Given the description of an element on the screen output the (x, y) to click on. 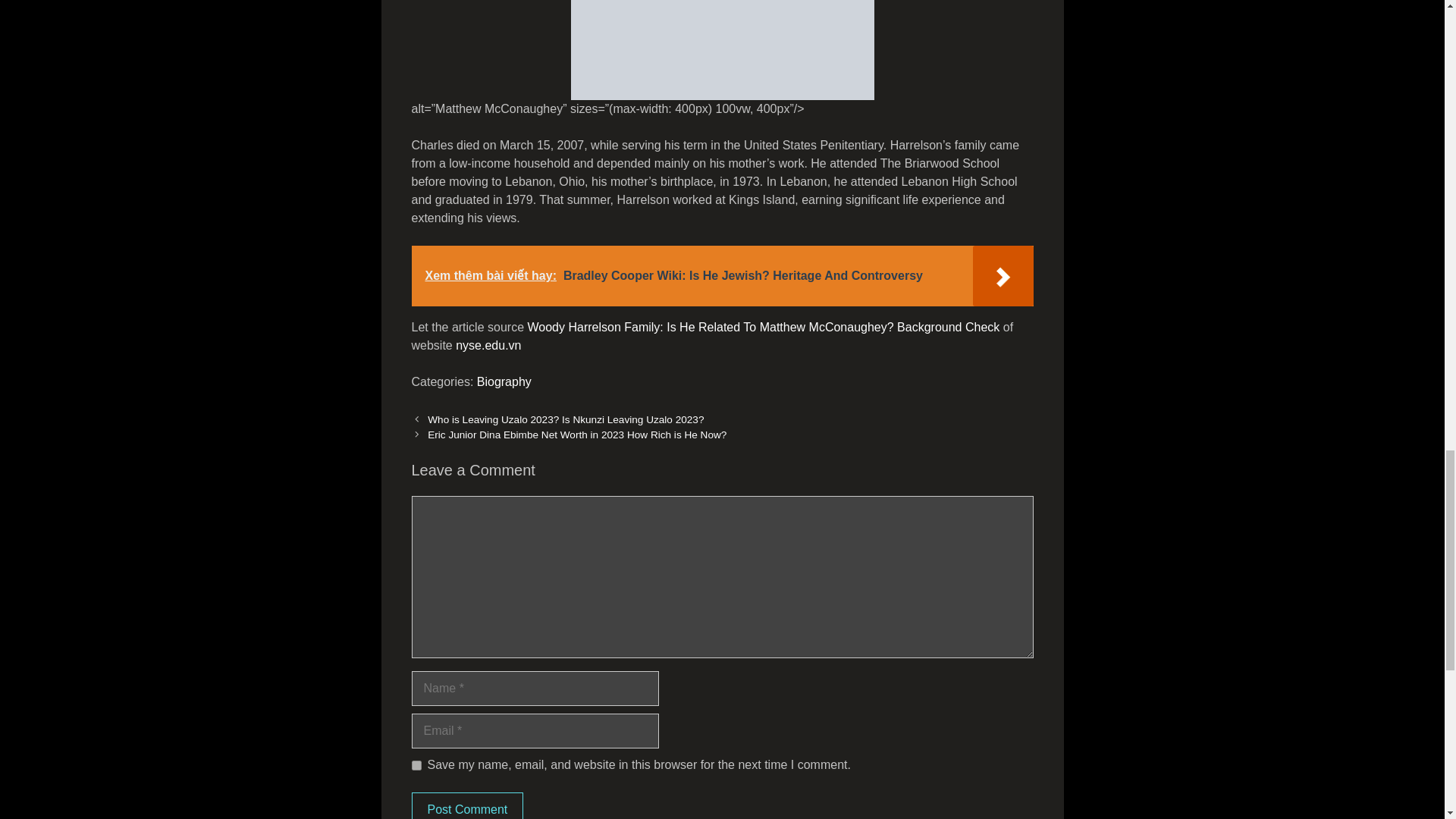
yes (415, 765)
nyse.edu.vn (488, 345)
Post Comment (466, 805)
Post Comment (466, 805)
Who is Leaving Uzalo 2023? Is Nkunzi Leaving Uzalo 2023? (565, 419)
Biography (504, 381)
